Given the description of an element on the screen output the (x, y) to click on. 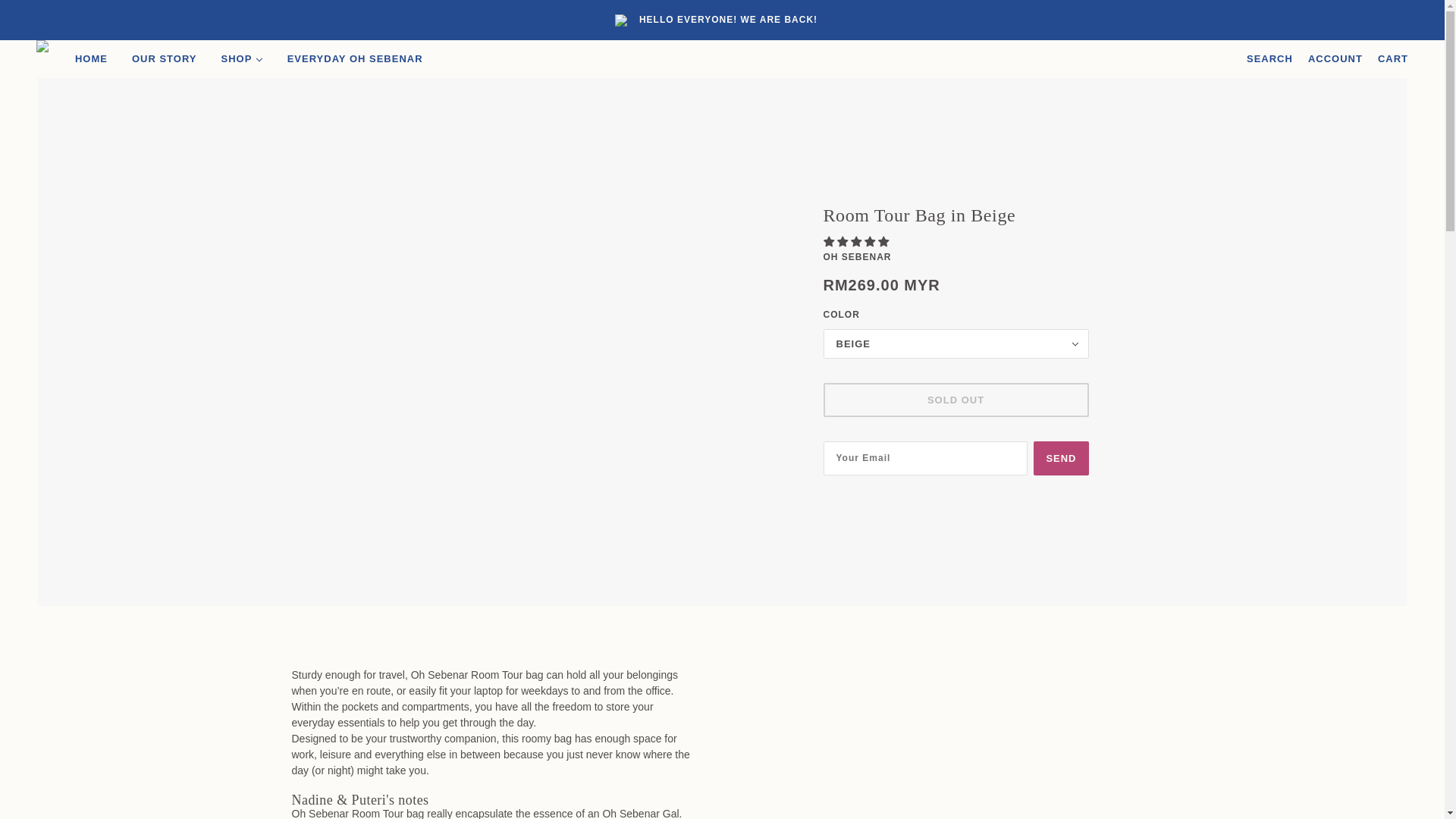
OH SEBENAR (857, 256)
HOME (90, 58)
CART (1392, 58)
EVERYDAY OH SEBENAR (355, 58)
SHOP (241, 58)
OUR STORY (164, 58)
ACCOUNT (1335, 58)
SEARCH (1269, 58)
Room Tour Bag in Beige (956, 221)
SOLD OUT (956, 399)
SEND (1060, 458)
